Given the description of an element on the screen output the (x, y) to click on. 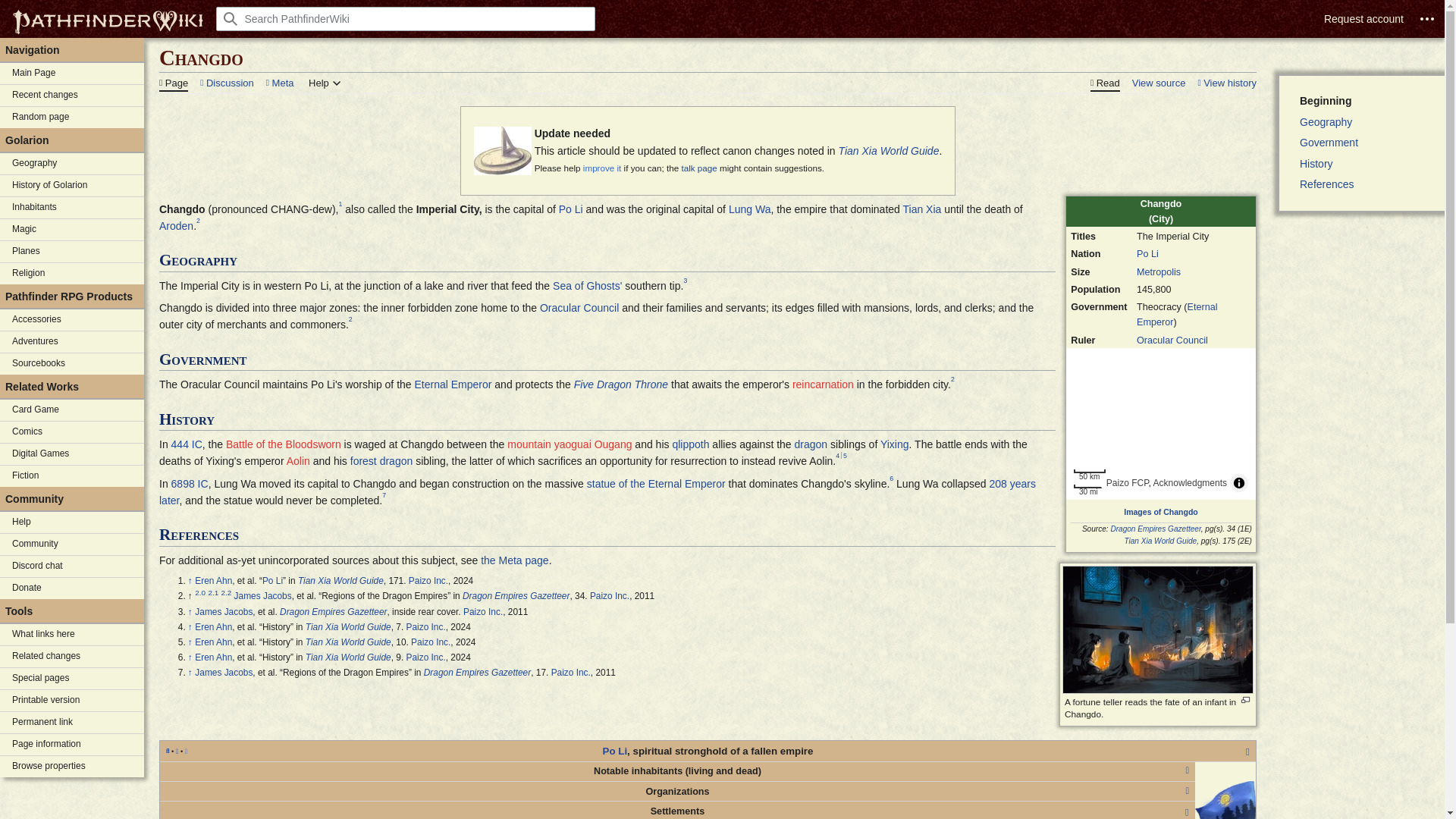
Page information (72, 744)
Go (230, 18)
Random page (72, 117)
Donate (72, 588)
Government (1367, 142)
Help (72, 522)
Request account (1363, 19)
Planes (72, 251)
Printable version (72, 700)
More information about this page (72, 744)
Geography (72, 163)
Special pages (72, 678)
Go (230, 18)
Geography (1367, 121)
Discord chat (72, 566)
